Given the description of an element on the screen output the (x, y) to click on. 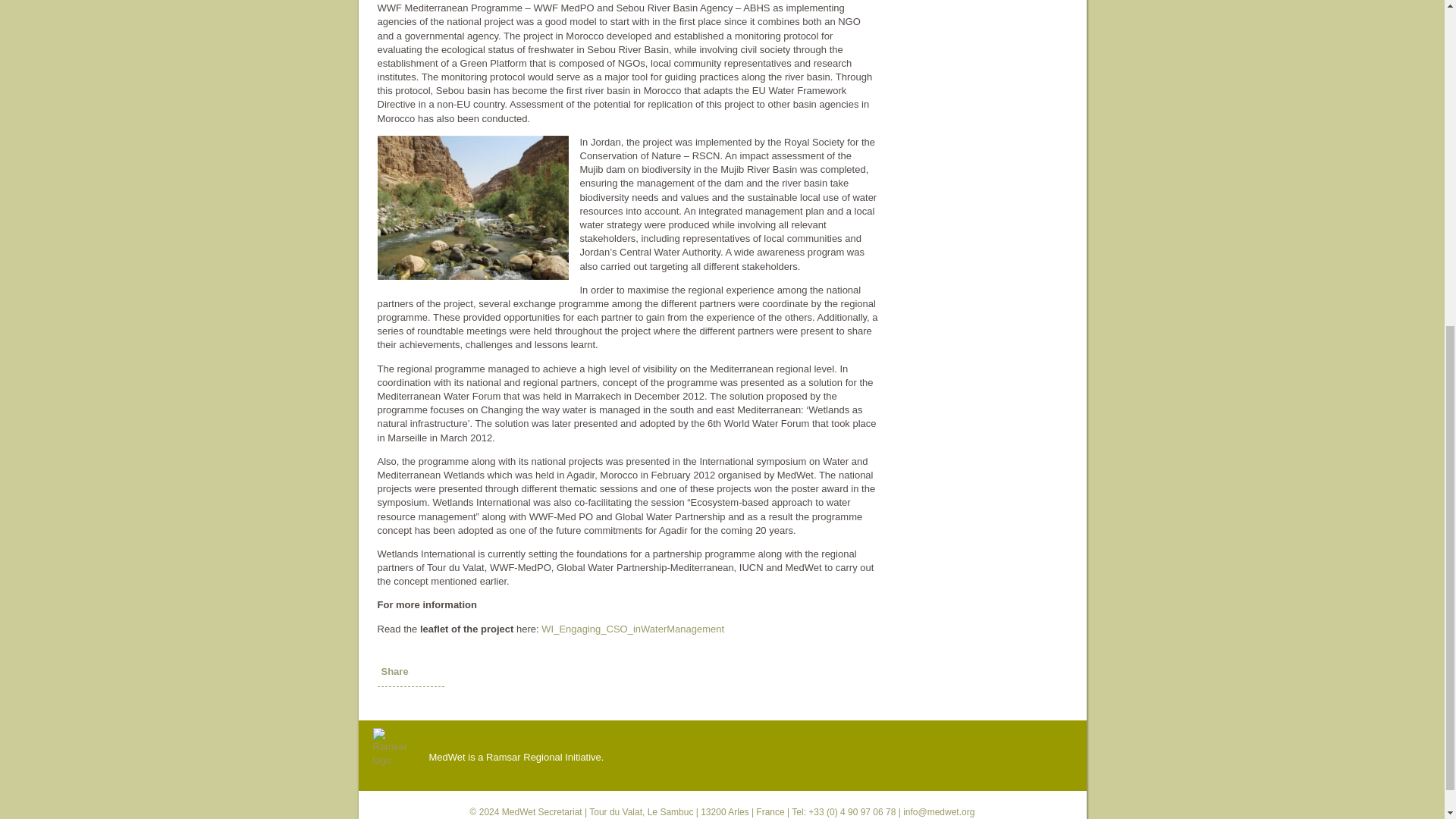
Share this post on Twitter (410, 703)
Share on LinkedIn (435, 703)
Mujib river- Jordan. Photo Credit: Mailis Renaudin (473, 207)
Share on Facebook (386, 703)
MedWet Secretariat (542, 811)
Share this post on Facebook (386, 703)
Share on Twitter (410, 703)
Share this post on LinkedIn (435, 703)
